Given the description of an element on the screen output the (x, y) to click on. 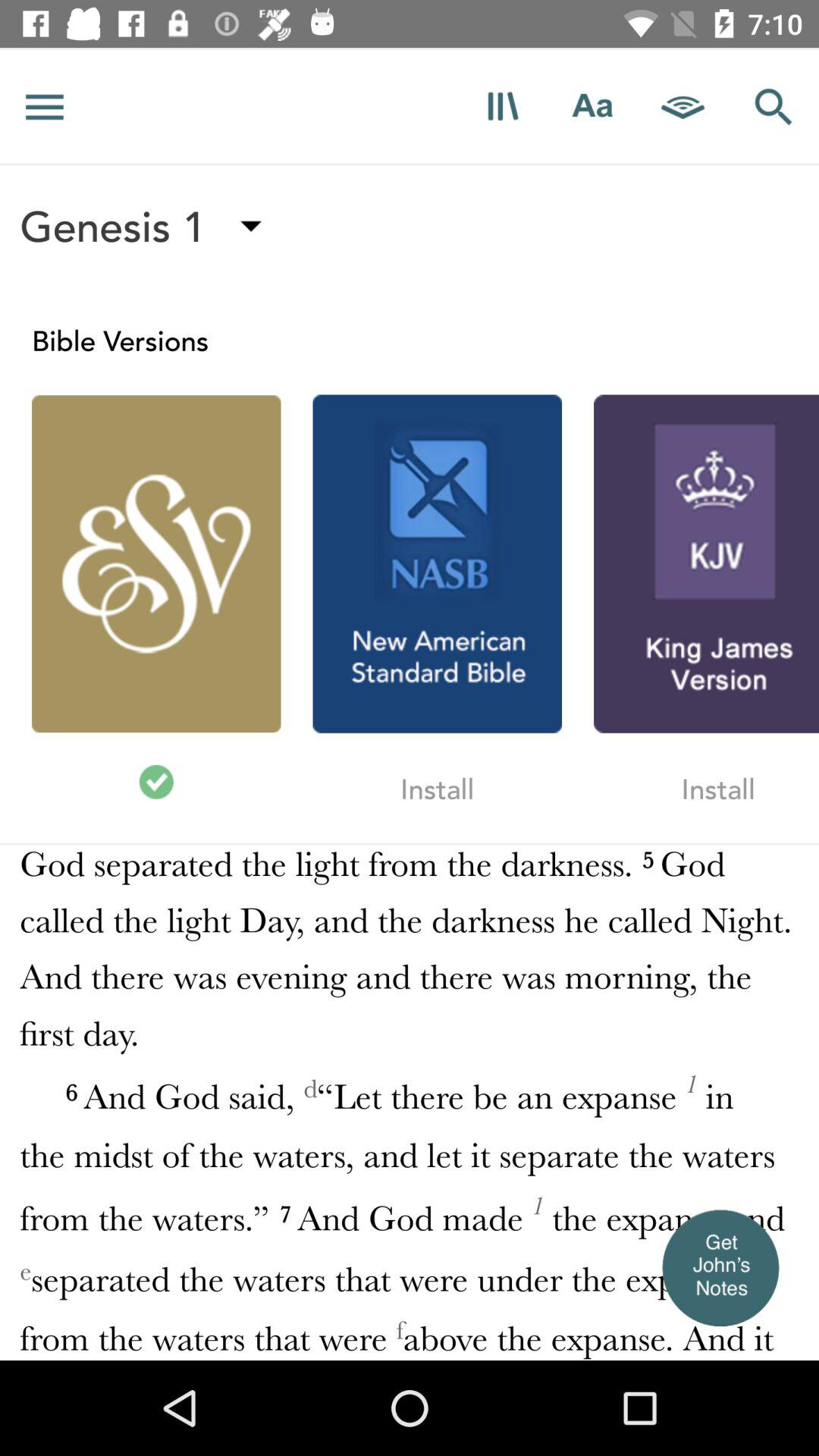
write (592, 106)
